Given the description of an element on the screen output the (x, y) to click on. 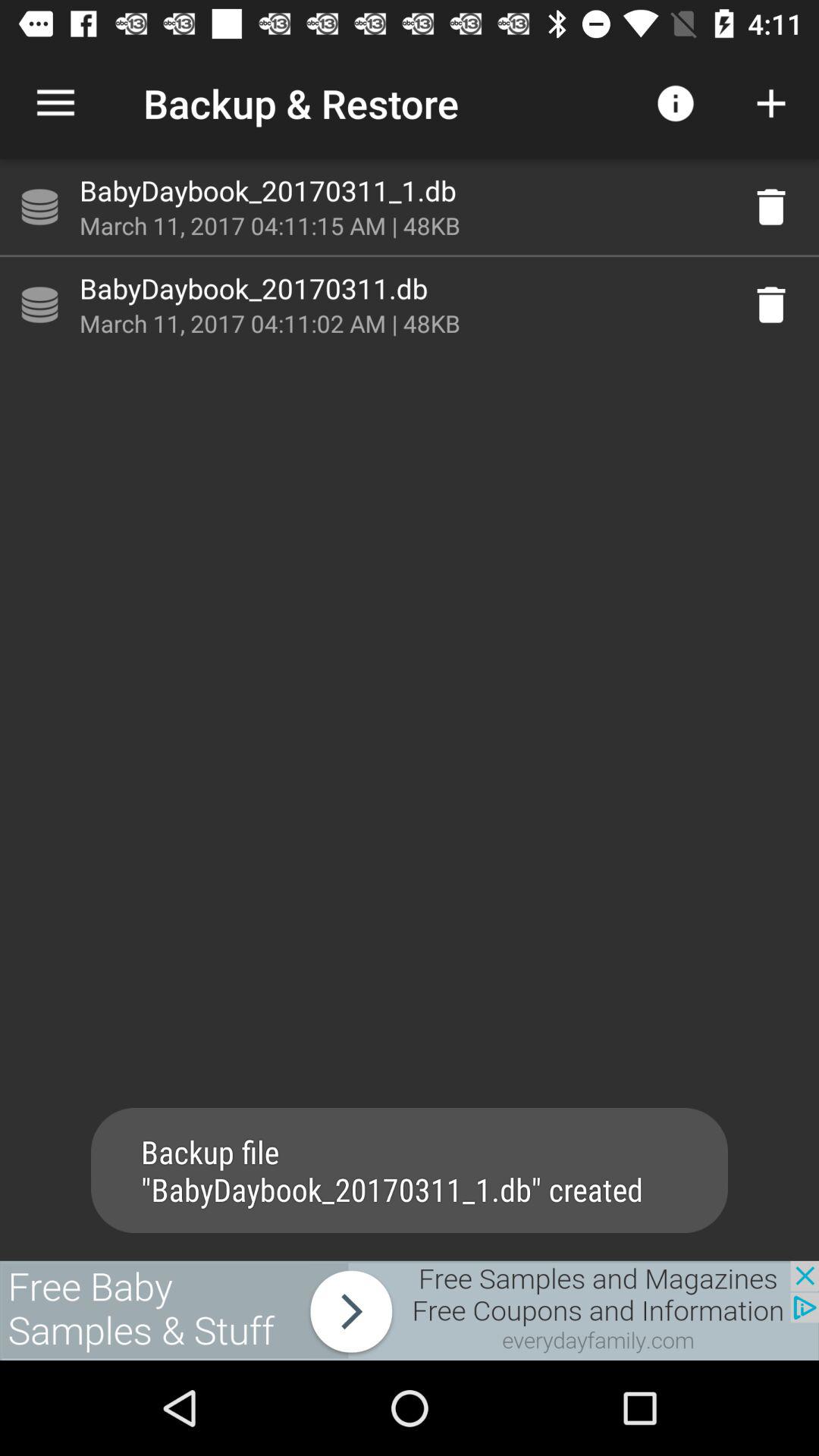
open advertisement (409, 1310)
